Given the description of an element on the screen output the (x, y) to click on. 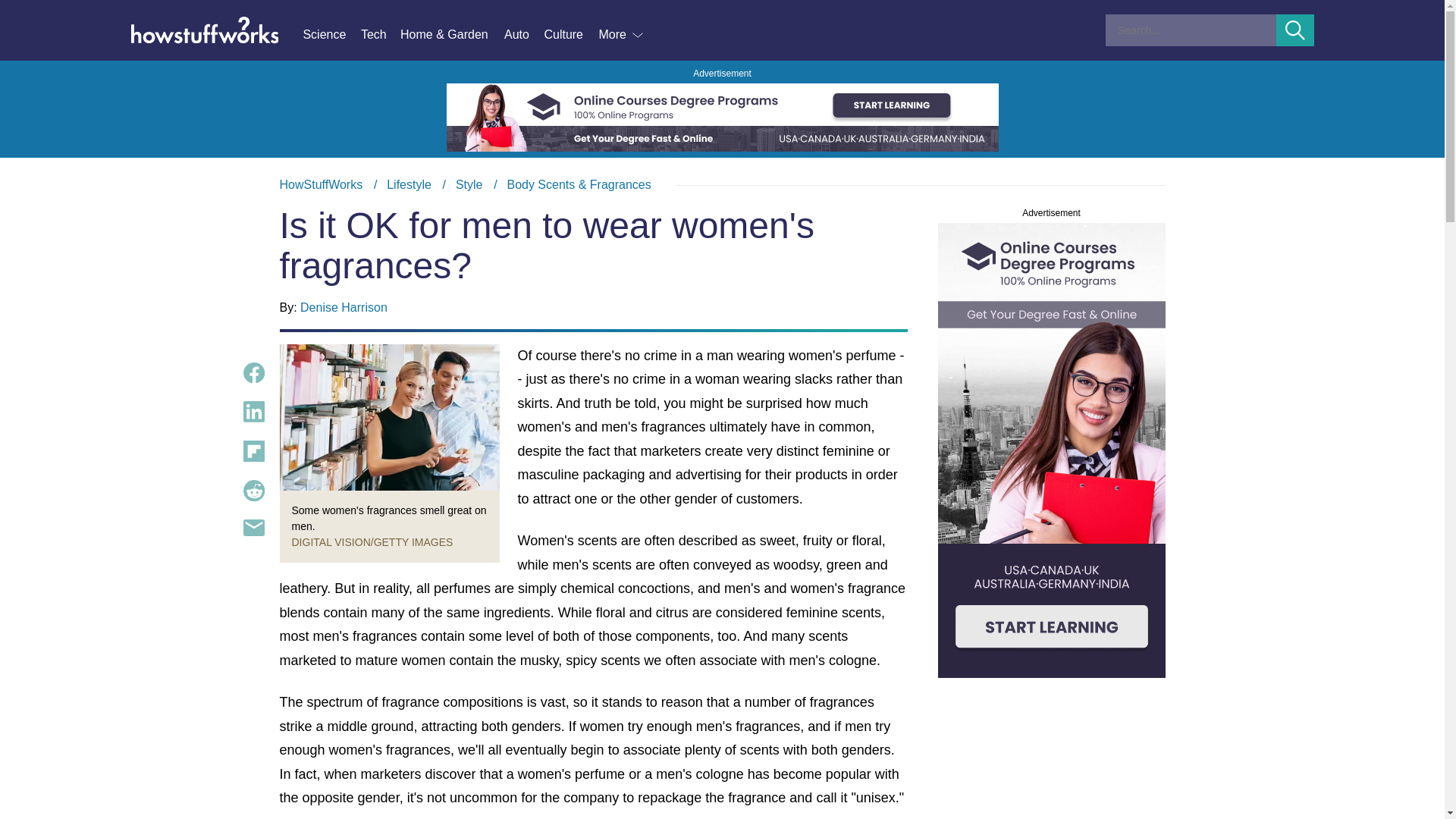
Culture (570, 34)
Submit Search (1295, 29)
Style (469, 184)
More (621, 34)
HowStuffWorks (320, 184)
Share Content on Flipboard (253, 450)
Auto (523, 34)
Share Content on Reddit (253, 490)
Share Content on Facebook (253, 372)
Lifestyle (408, 184)
